Given the description of an element on the screen output the (x, y) to click on. 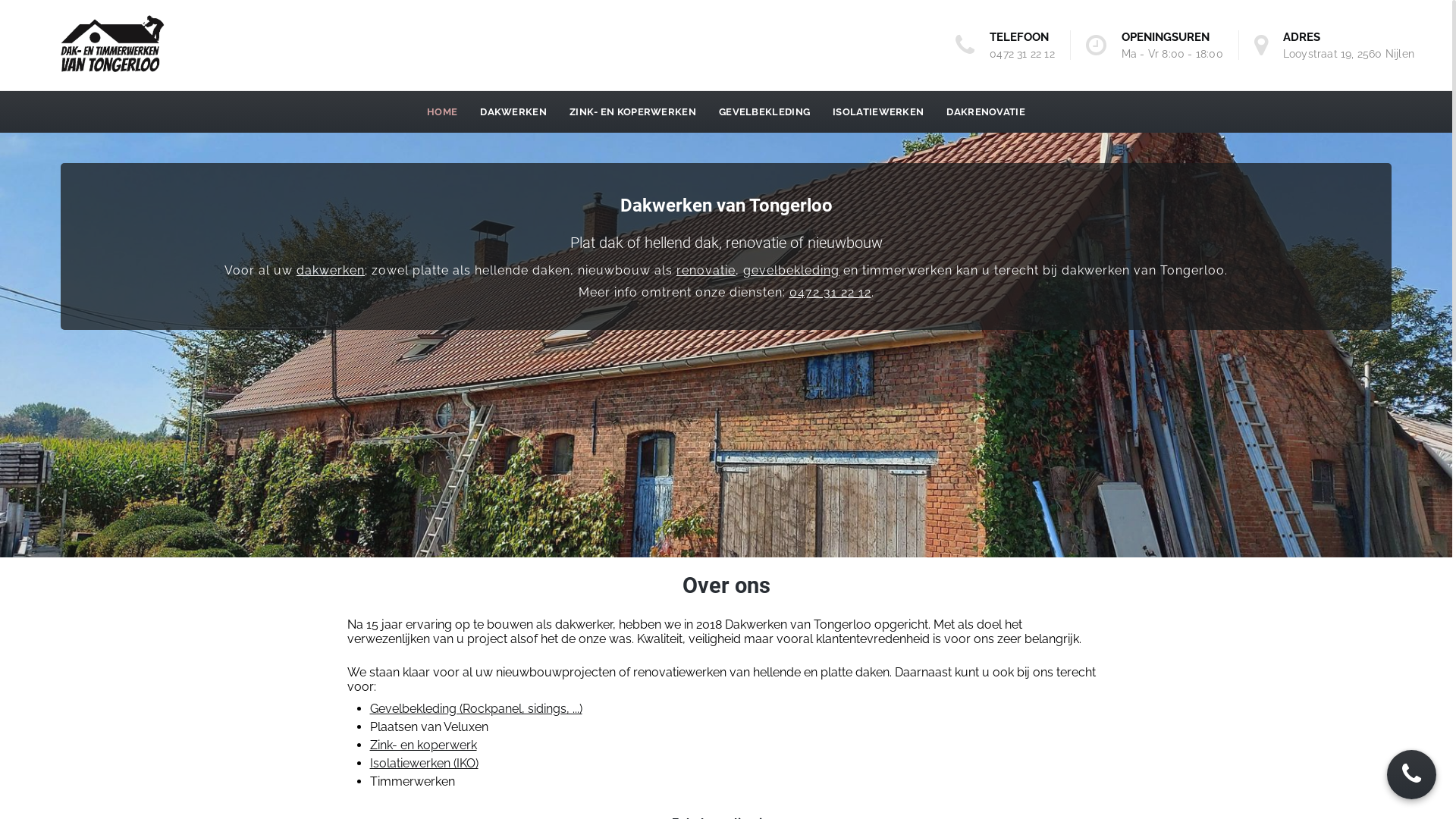
Bel ons Element type: hover (1411, 774)
0472 31 22 12 Element type: text (1021, 53)
dakwerken Element type: text (330, 270)
Looystraat 19, 2560 Nijlen Element type: text (1348, 53)
GEVELBEKLEDING Element type: text (763, 111)
DAKRENOVATIE Element type: text (985, 111)
ZINK- EN KOPERWERKEN Element type: text (632, 111)
renovatie Element type: text (705, 270)
ISOLATIEWERKEN Element type: text (877, 111)
DAKWERKEN Element type: text (513, 111)
Gevelbekleding (Rockpanel, sidings, ...) Element type: text (476, 708)
0472 31 22 12 Element type: text (829, 292)
Zink- en koperwerk Element type: text (423, 744)
gevelbekleding Element type: text (791, 270)
HOME Element type: text (441, 111)
Isolatiewerken (IKO) Element type: text (424, 763)
